Given the description of an element on the screen output the (x, y) to click on. 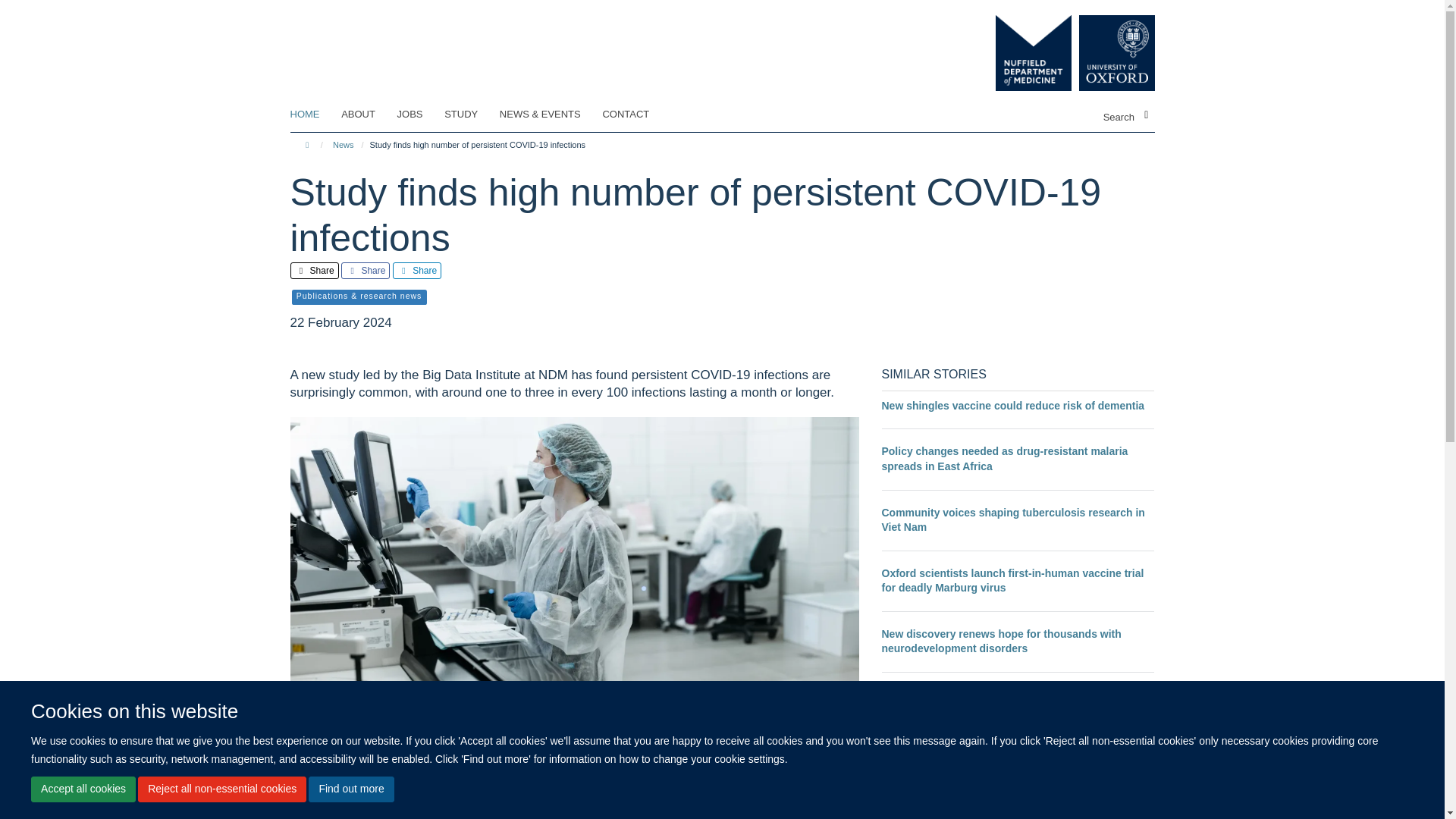
Accept all cookies (82, 789)
HOME (313, 114)
Reject all non-essential cookies (221, 789)
Find out more (350, 789)
ABOUT (367, 114)
